Given the description of an element on the screen output the (x, y) to click on. 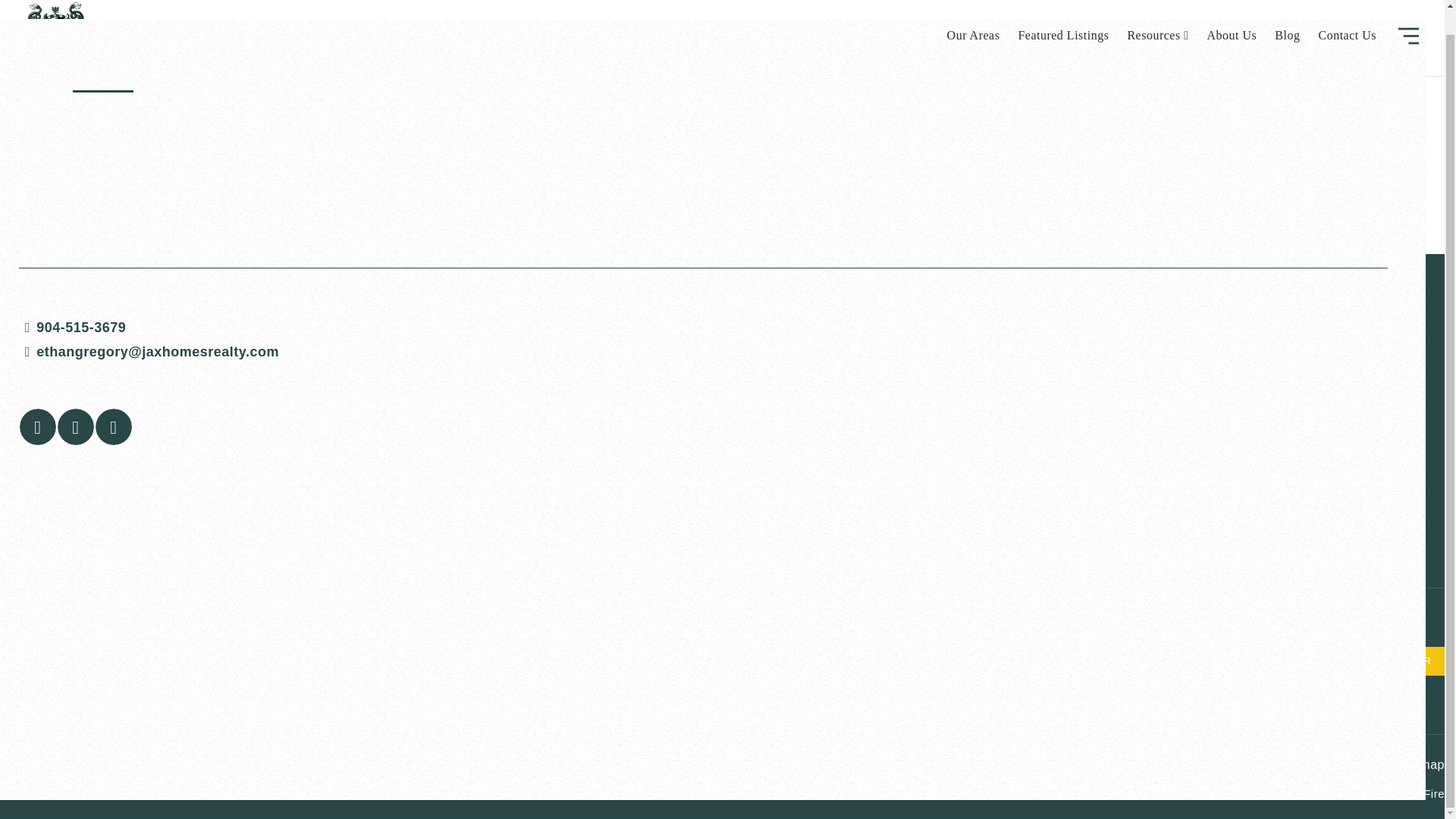
904-515-3679 (702, 302)
Featured Listings (1063, 13)
Resources (1157, 13)
Contact Us (1347, 13)
Created by AgentFire (1386, 793)
About Us (1232, 13)
Our Areas (973, 13)
Blog (1286, 13)
